Given the description of an element on the screen output the (x, y) to click on. 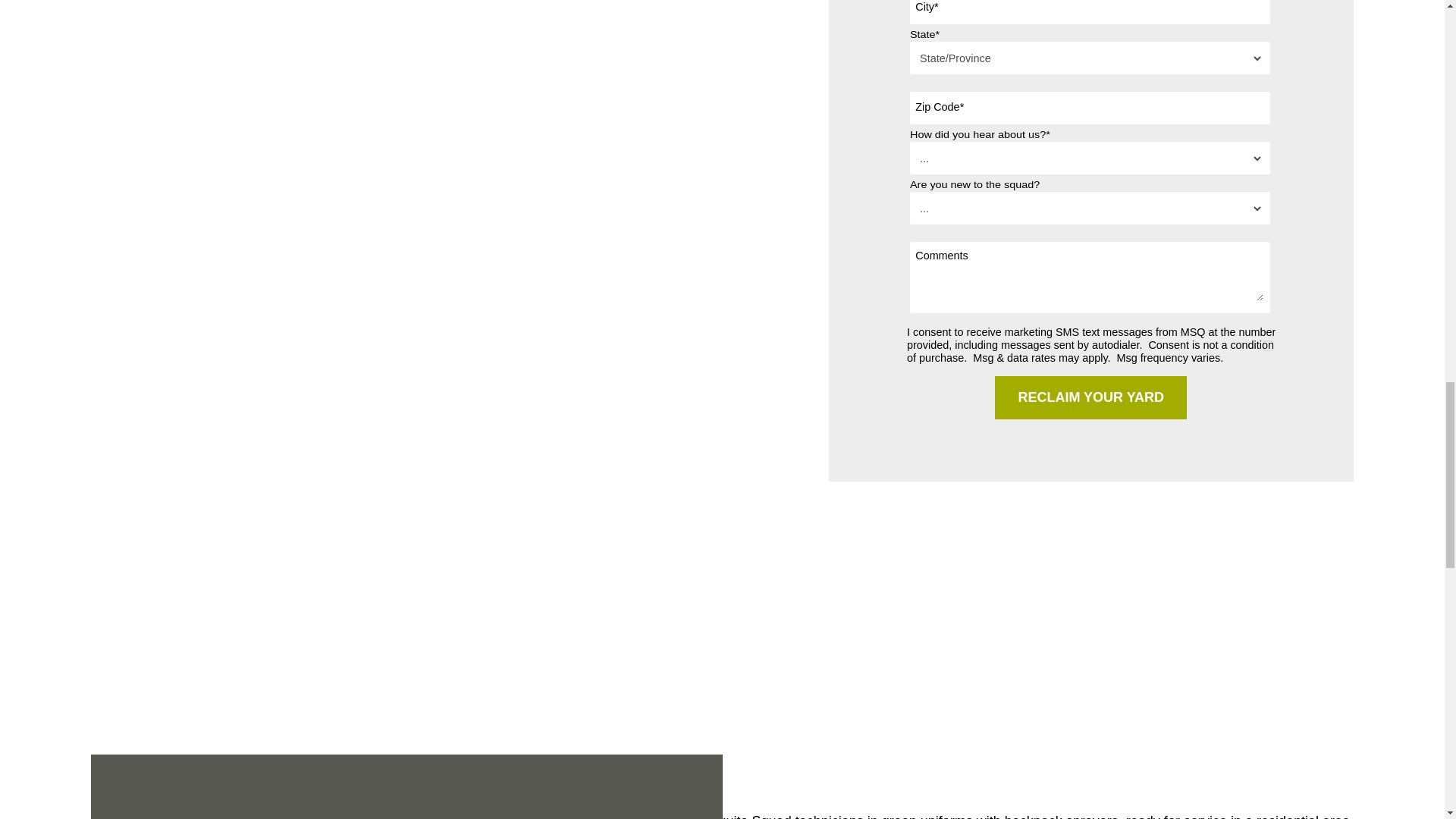
Reclaim Your Yard (1090, 397)
